Given the description of an element on the screen output the (x, y) to click on. 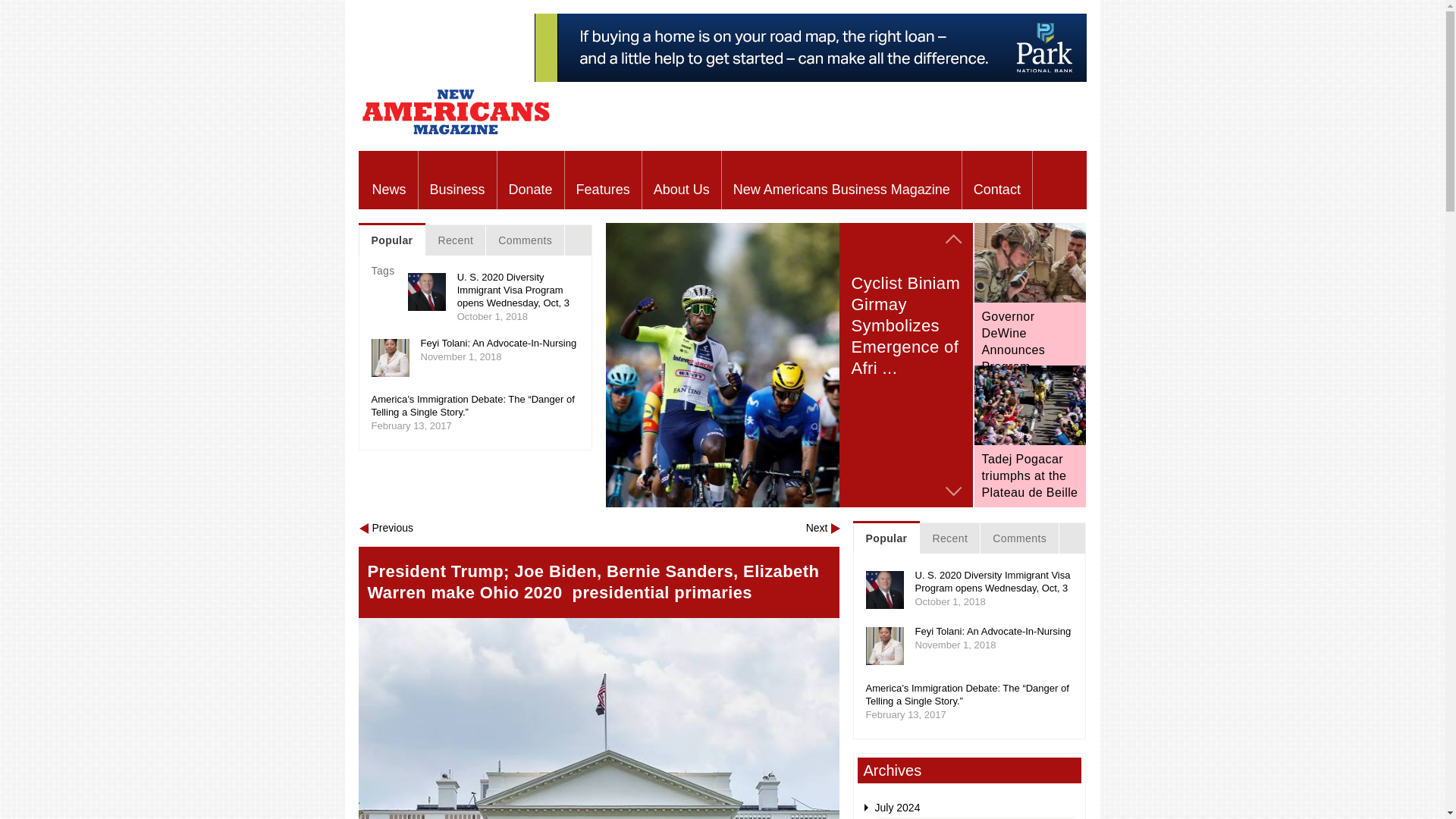
Popular (391, 240)
Business (457, 179)
New Americans Magazine (454, 134)
Tags (383, 270)
New Americans Business Magazine (841, 179)
Feyi Tolani: An Advocate-In-Nursing (498, 342)
Contact (997, 179)
About Us (681, 179)
News (389, 179)
Donate (530, 179)
Recent (455, 240)
Features (603, 179)
Comments (525, 240)
